Given the description of an element on the screen output the (x, y) to click on. 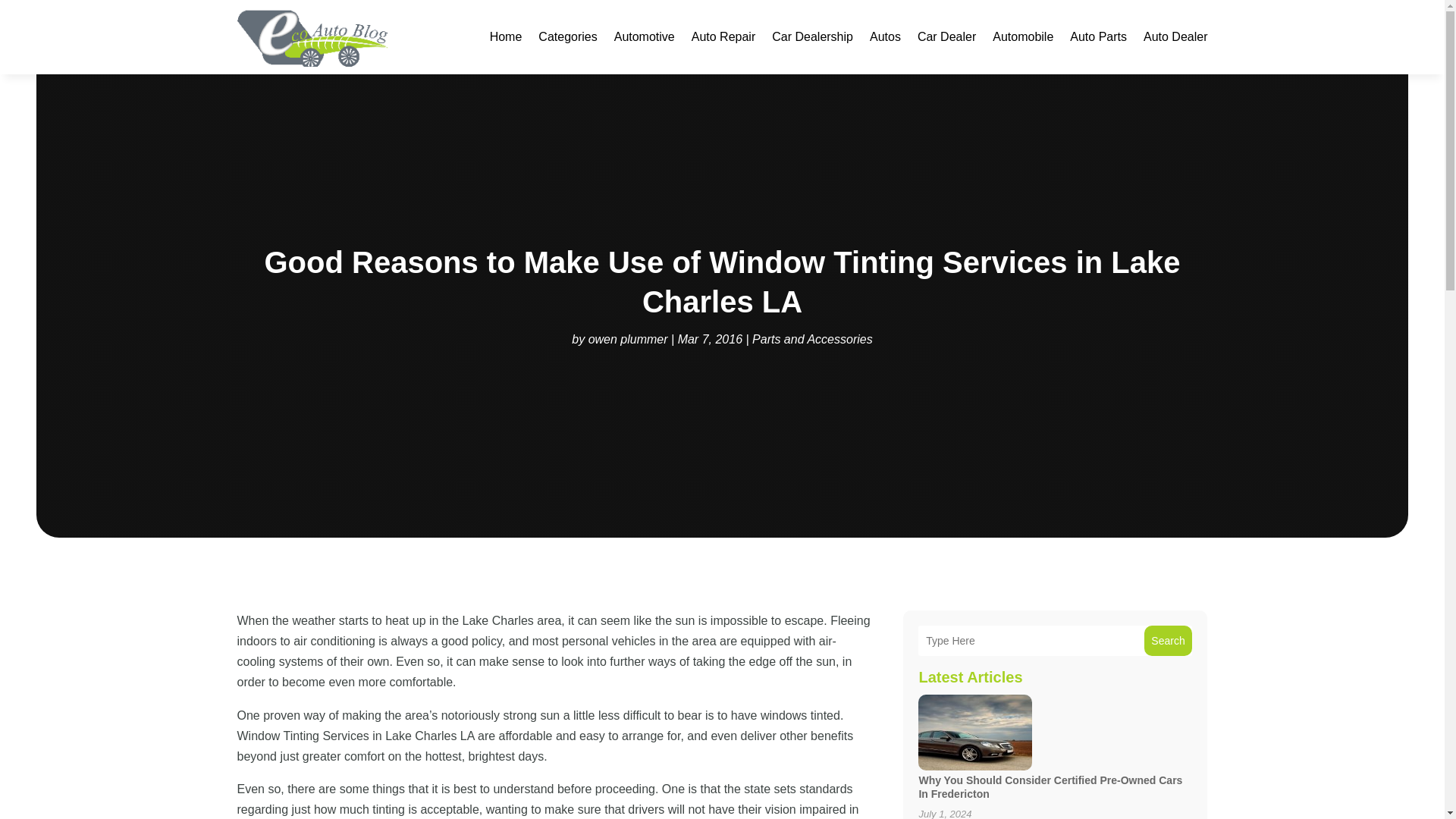
owen plummer (628, 338)
Car Dealership (812, 36)
Automobile (1022, 36)
Auto Dealer (1175, 36)
Search (1168, 640)
Automotive (644, 36)
Car Dealer (946, 36)
Auto Parts (1098, 36)
Parts and Accessories (812, 338)
Posts by owen plummer (628, 338)
Auto Repair (723, 36)
Categories (567, 36)
